Given the description of an element on the screen output the (x, y) to click on. 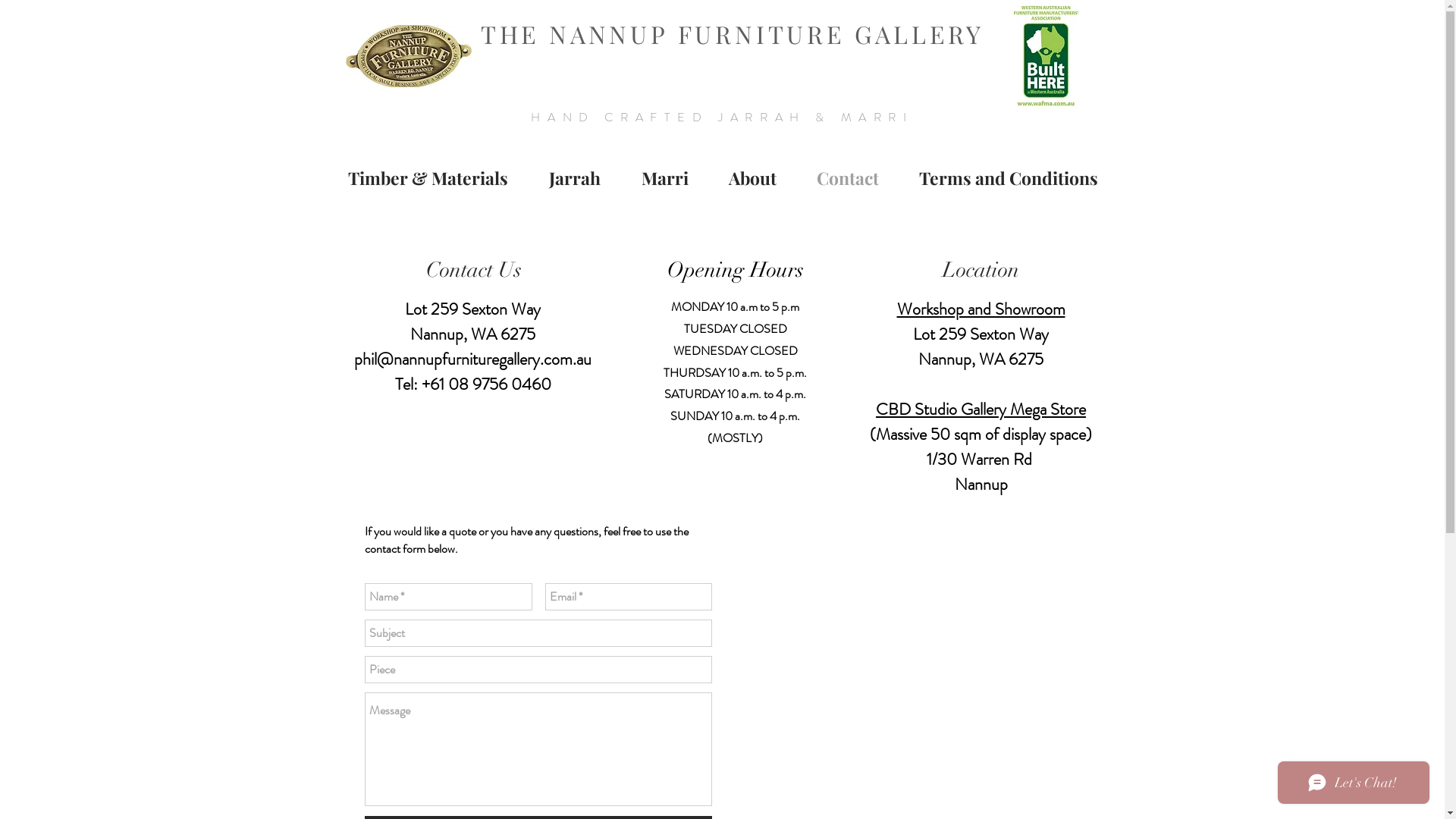
Terms and Conditions Element type: text (1008, 177)
THE NANNUP FURNITURE GALLERY Element type: text (732, 33)
HAND CRAFTED JARRAH & MARRI Element type: text (721, 116)
About Element type: text (752, 177)
Contact Element type: text (847, 177)
phil@nannupfurnituregallery.com.au Element type: text (472, 358)
Timber & Materials Element type: text (427, 177)
